Given the description of an element on the screen output the (x, y) to click on. 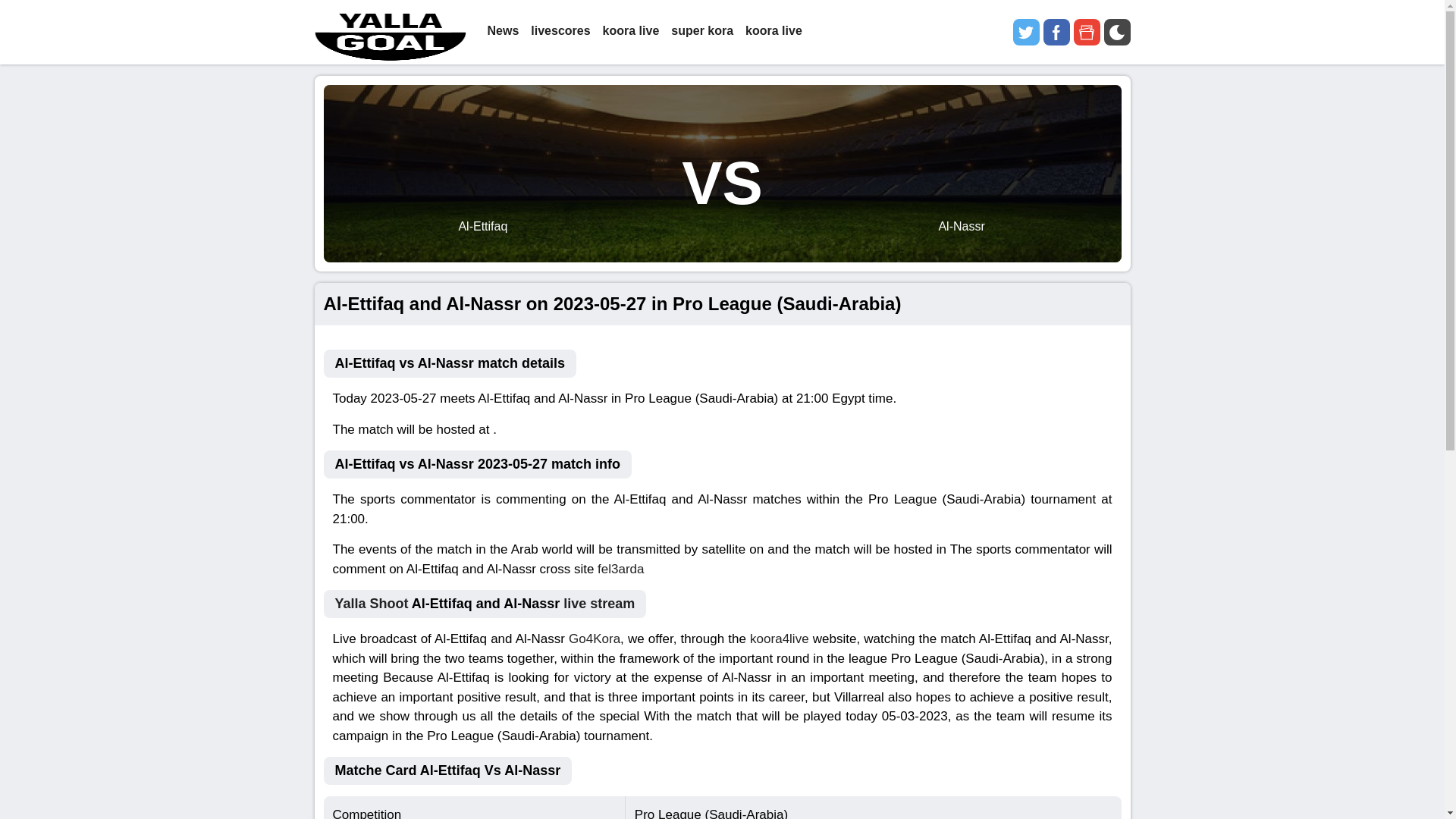
livescores (559, 31)
koora live (630, 31)
koora live (773, 31)
fel3arda (619, 568)
Go4Kora (594, 638)
Yalla Shoot (371, 603)
koora4live (779, 638)
yalla goal English yalla shoot Free Live Sports Stream (389, 32)
live stream (598, 603)
super kora (702, 31)
